Given the description of an element on the screen output the (x, y) to click on. 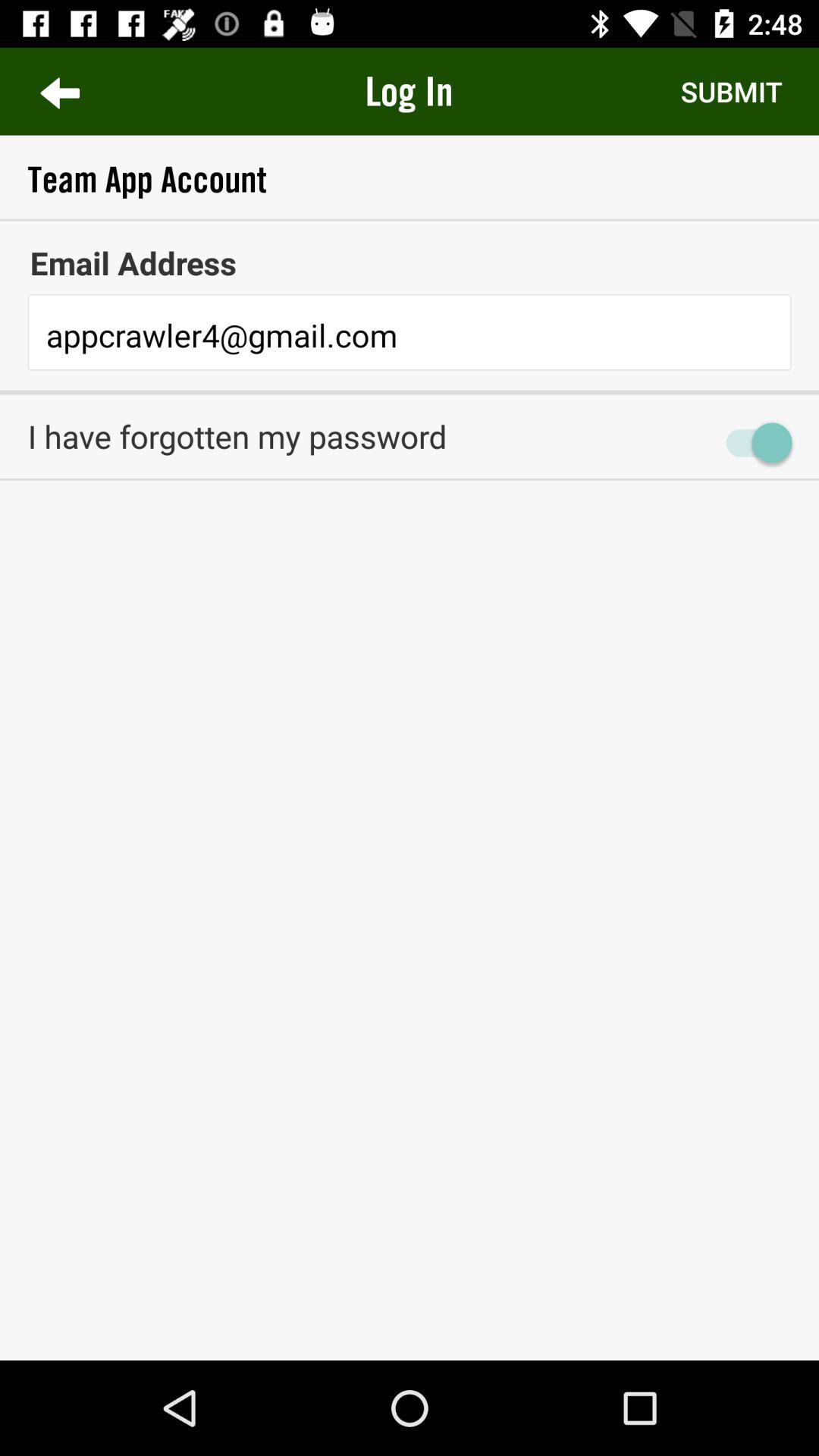
press icon above the team app account icon (731, 91)
